Given the description of an element on the screen output the (x, y) to click on. 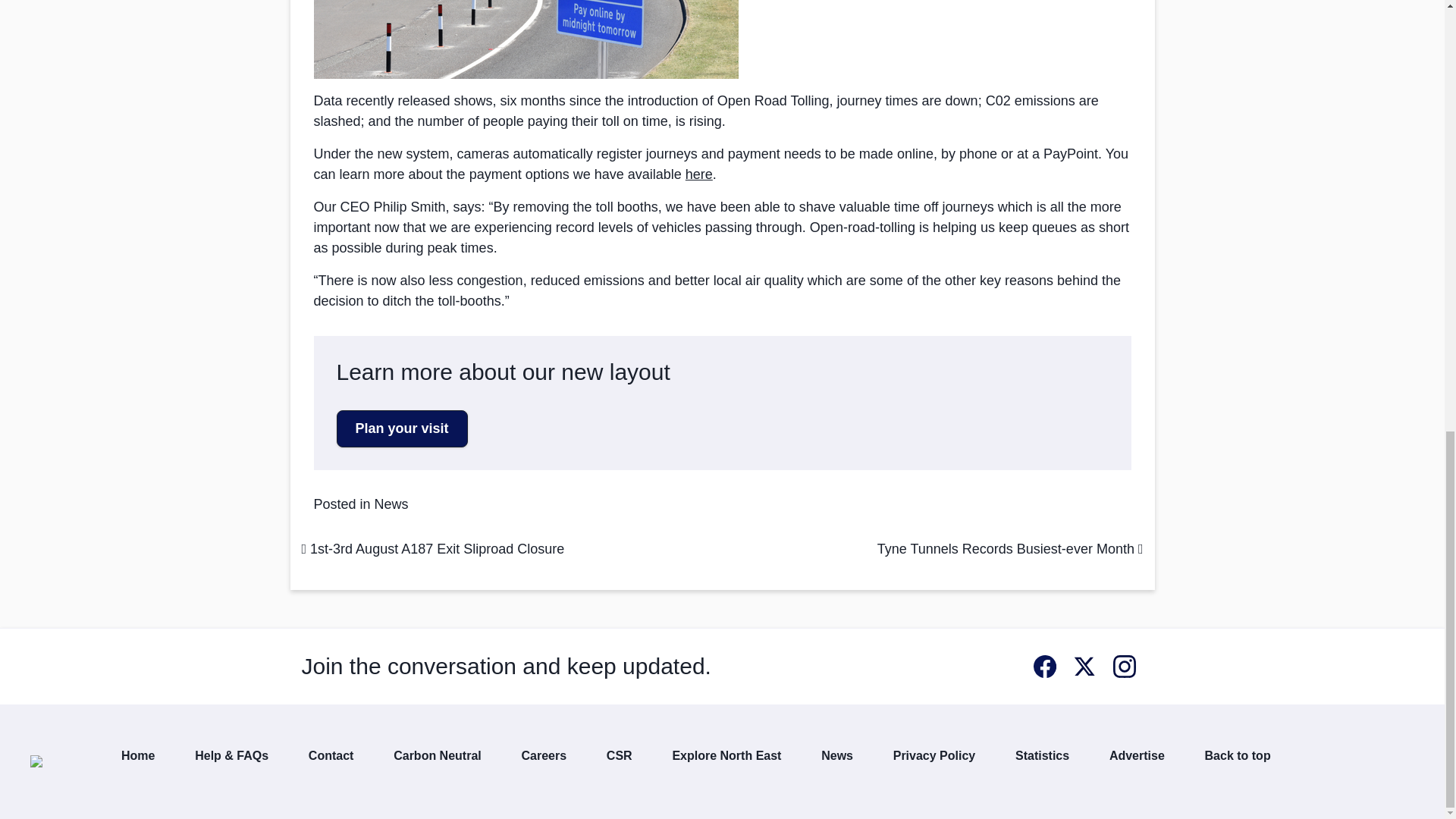
Privacy Policy (934, 755)
Careers (544, 755)
Contact (330, 755)
News (391, 503)
Tyne Tunnels Records Busiest-ever Month  (1009, 548)
Carbon Neutral (437, 755)
News (837, 755)
Plan your visit (401, 428)
 1st-3rd August A187 Exit Sliproad Closure (432, 548)
Advertise (1136, 755)
